Given the description of an element on the screen output the (x, y) to click on. 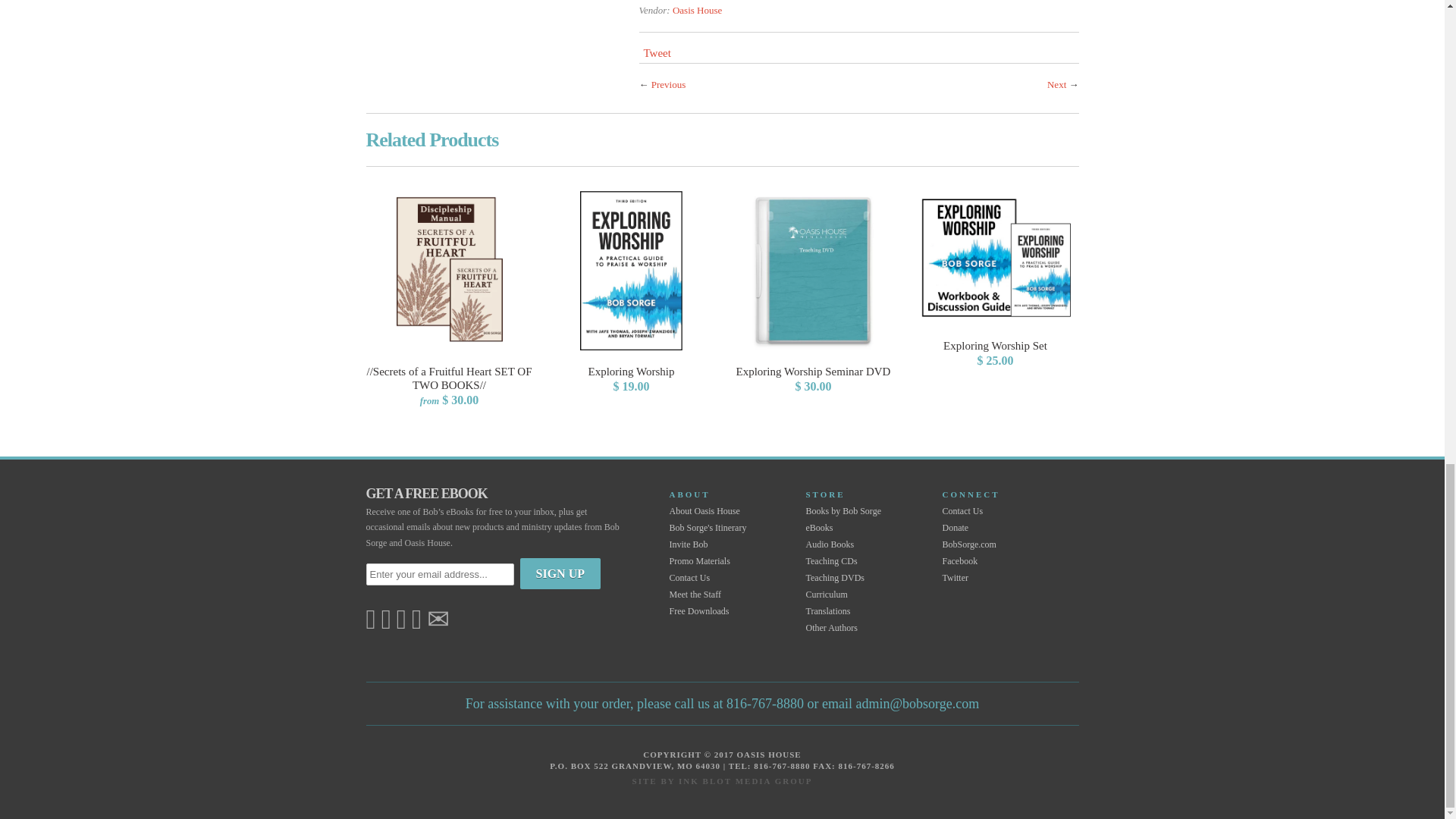
Sign Up (559, 572)
